Given the description of an element on the screen output the (x, y) to click on. 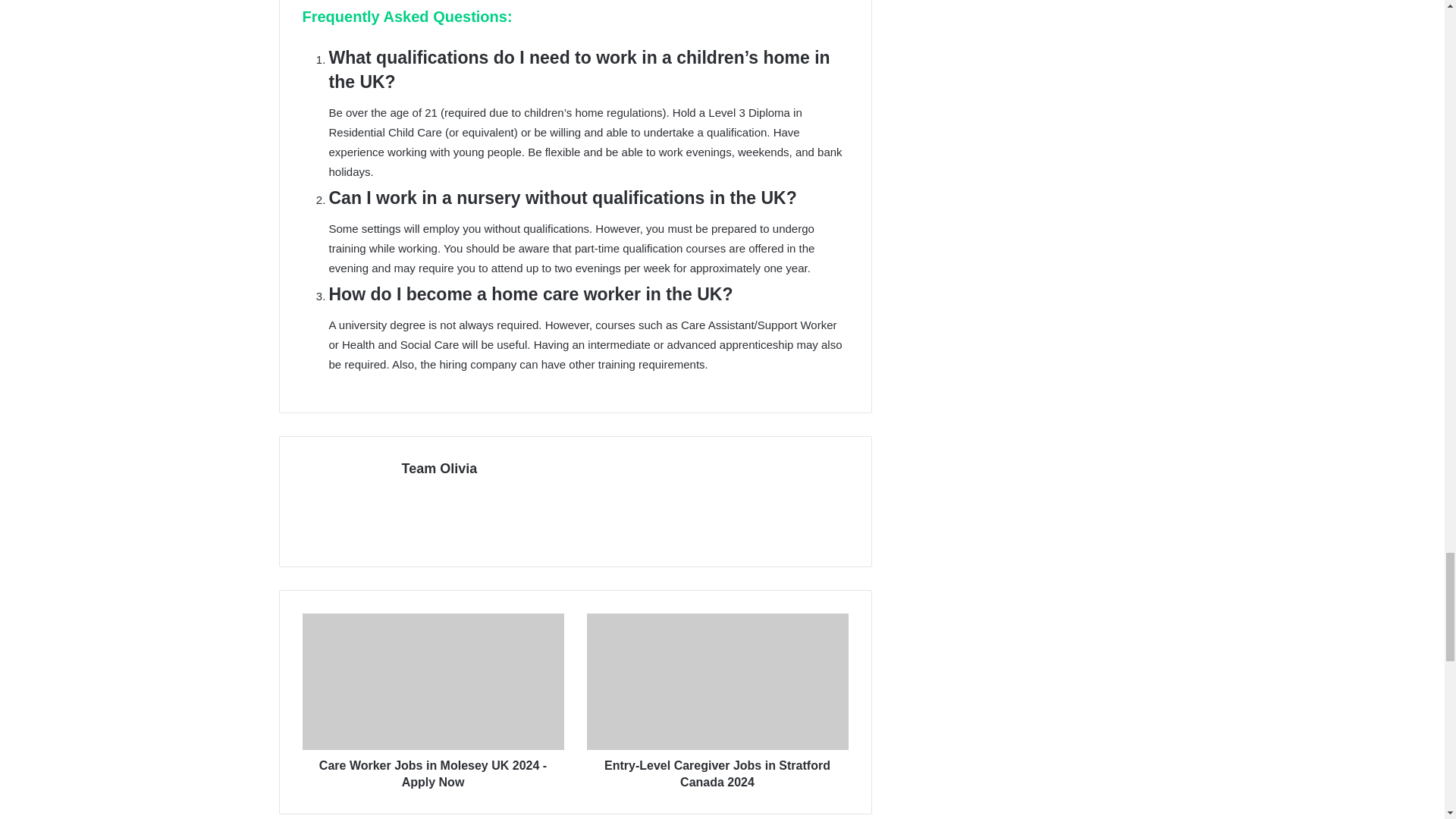
Website (410, 495)
Team Olivia (439, 468)
